Given the description of an element on the screen output the (x, y) to click on. 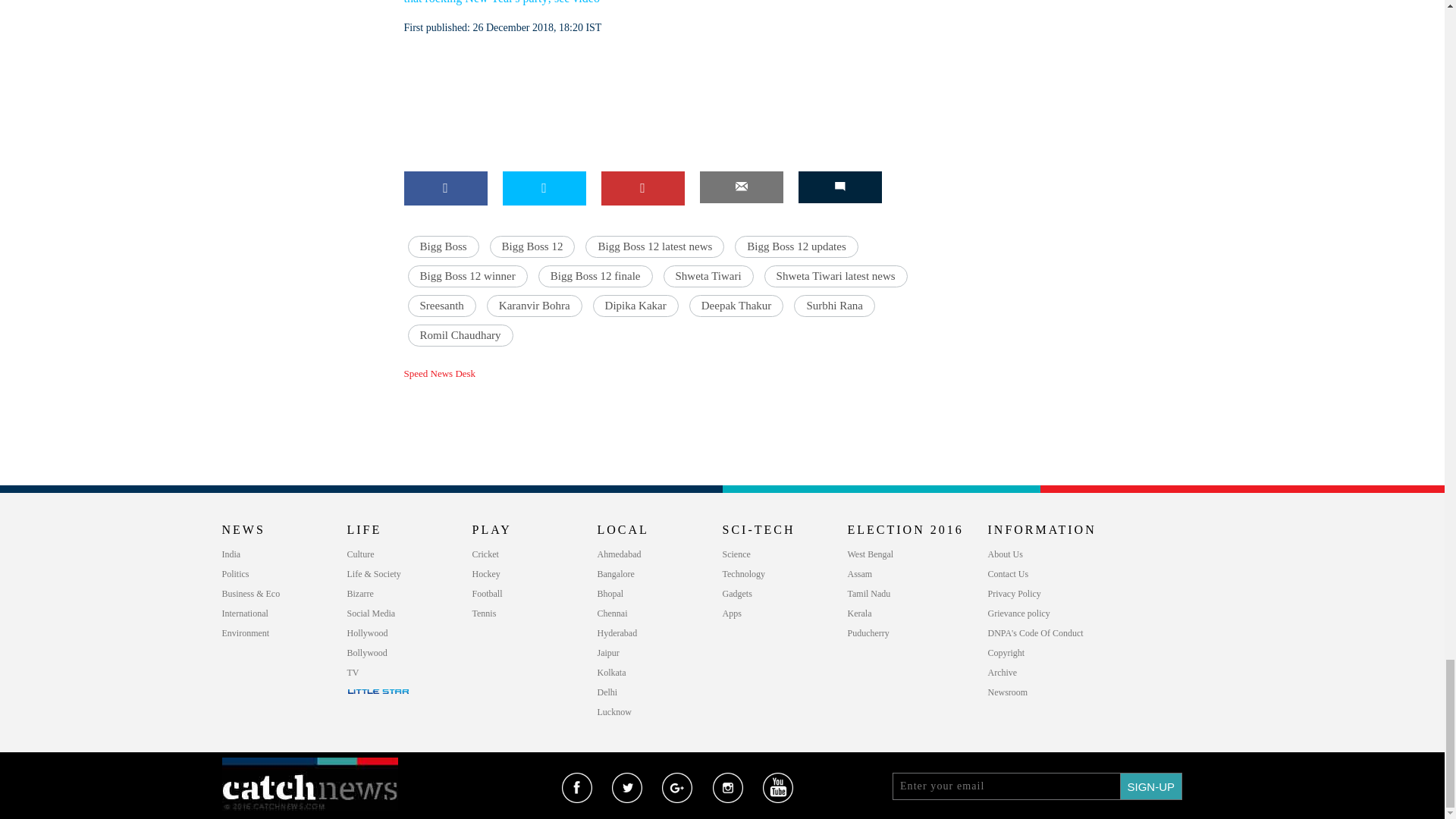
Bigg Boss 12 latest news (654, 246)
Bigg Boss 12 (532, 246)
Bigg Boss 12 updates (796, 246)
SIGN-UP (1150, 786)
Bigg Boss (443, 246)
Bigg Boss 12 winner (467, 276)
